Given the description of an element on the screen output the (x, y) to click on. 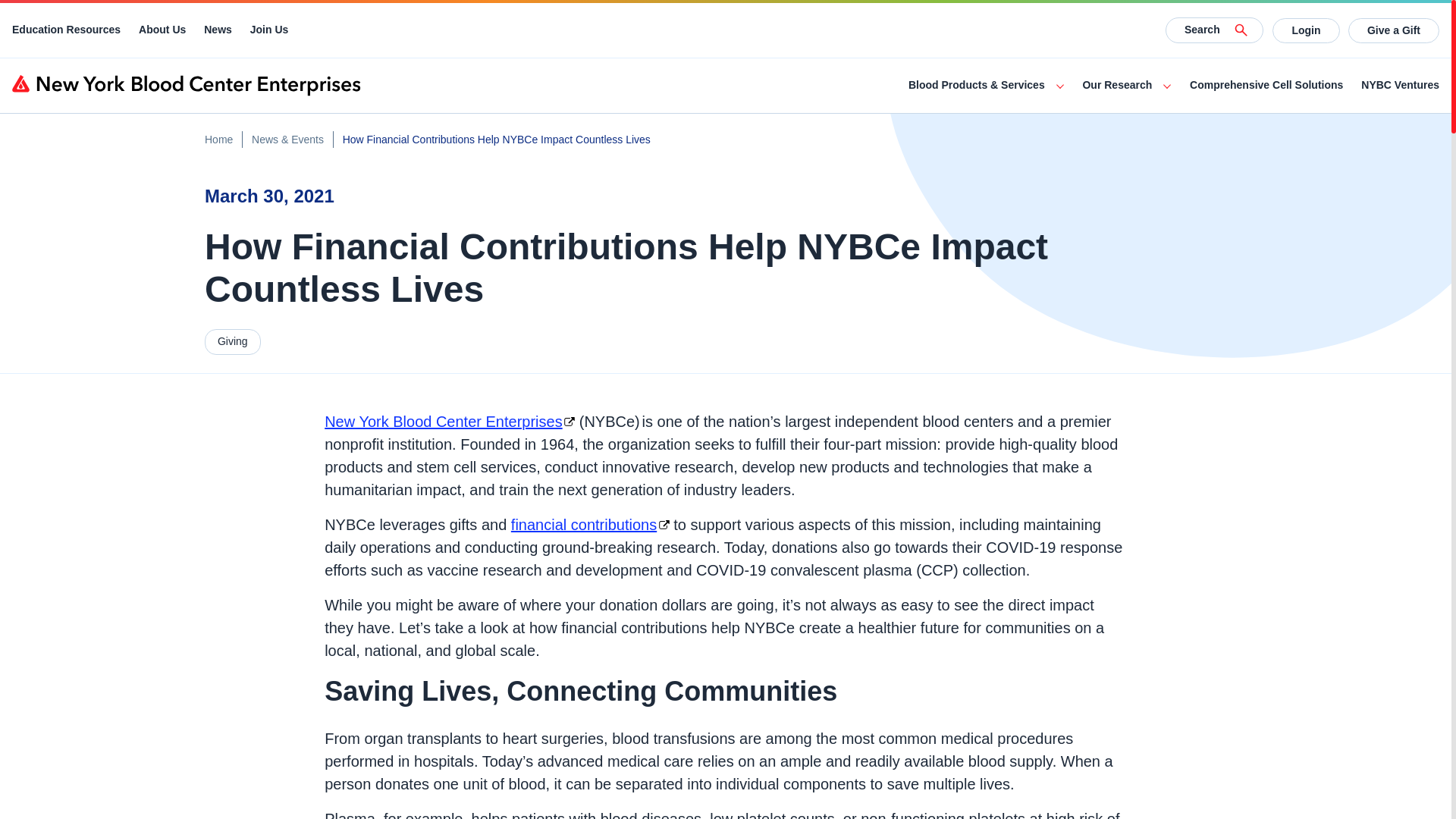
New York Blood Center Enterprises (449, 421)
Login (1305, 30)
Home (218, 139)
Education Resources (65, 30)
Giving (232, 341)
Our Research (1116, 85)
About Us (162, 30)
News (217, 30)
Give a Gift (1393, 30)
Join Us (269, 30)
